Given the description of an element on the screen output the (x, y) to click on. 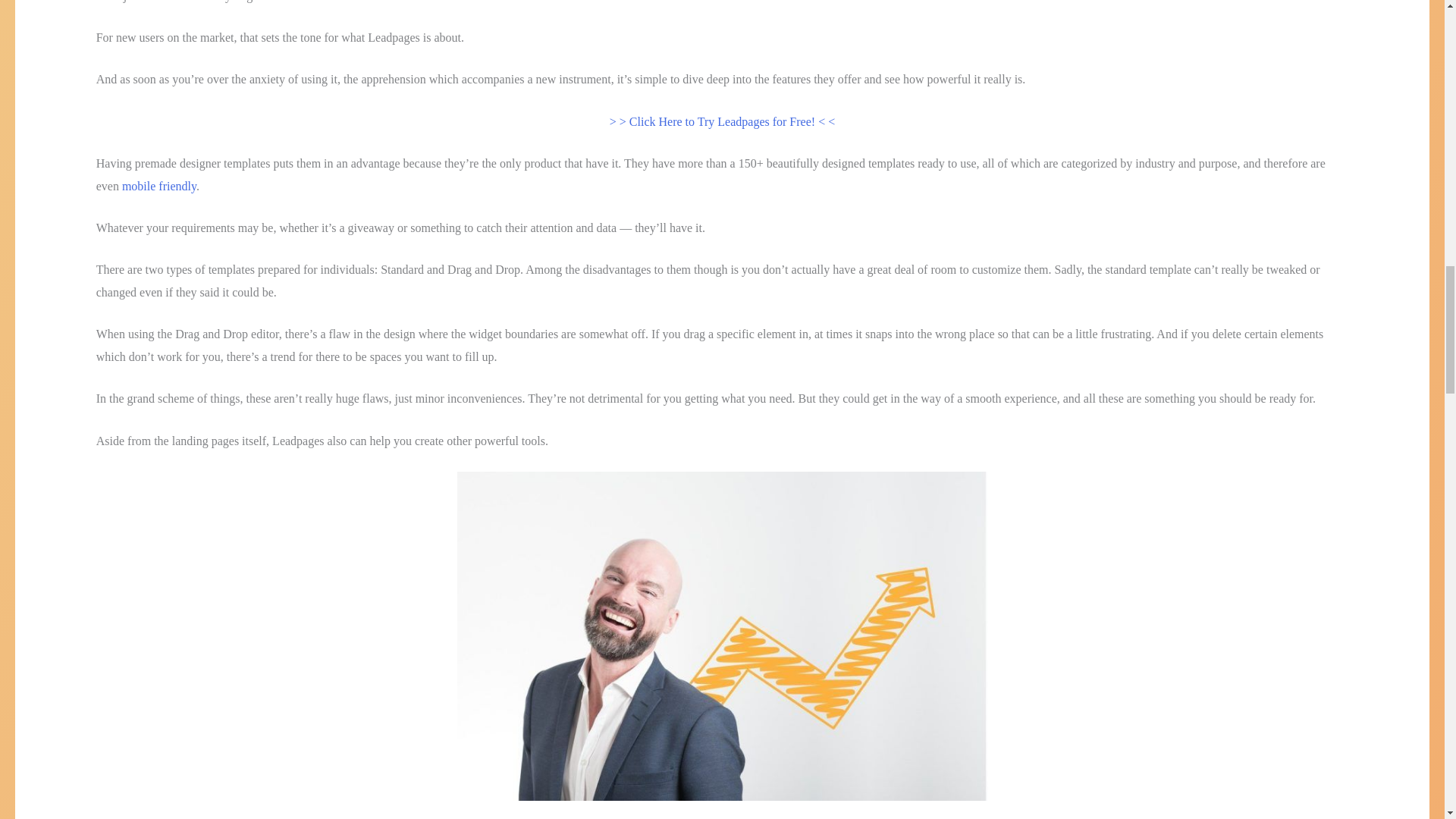
mobile friendly (159, 185)
